Given the description of an element on the screen output the (x, y) to click on. 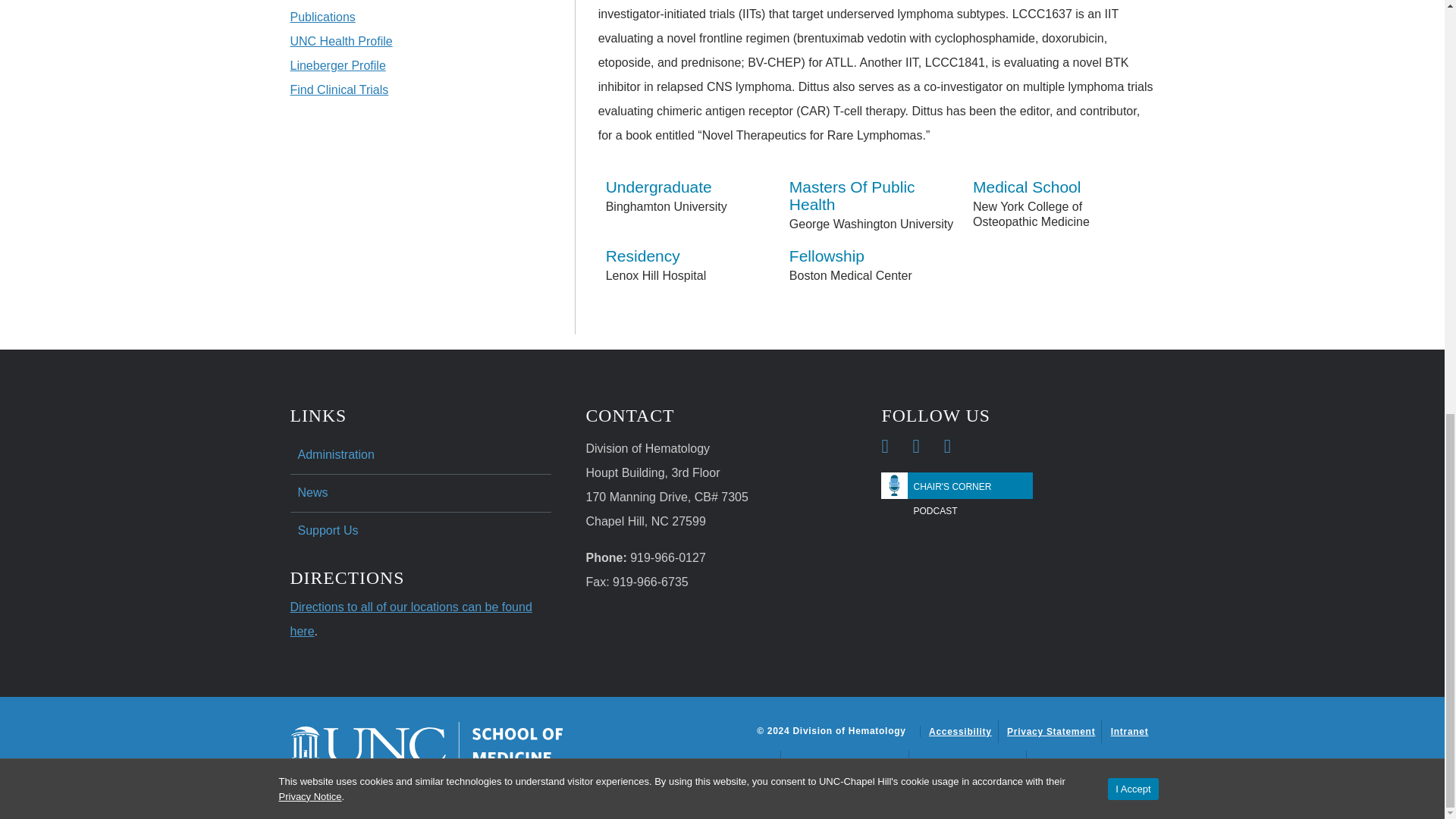
News (420, 493)
Find Clinical Trials (338, 89)
Lineberger Profile (337, 65)
Support Us (420, 530)
Directions to all of our locations can be found here (410, 619)
UNC Health Profile (340, 41)
Publications (322, 16)
Administration (420, 455)
UNC School of Medicine (425, 744)
